Given the description of an element on the screen output the (x, y) to click on. 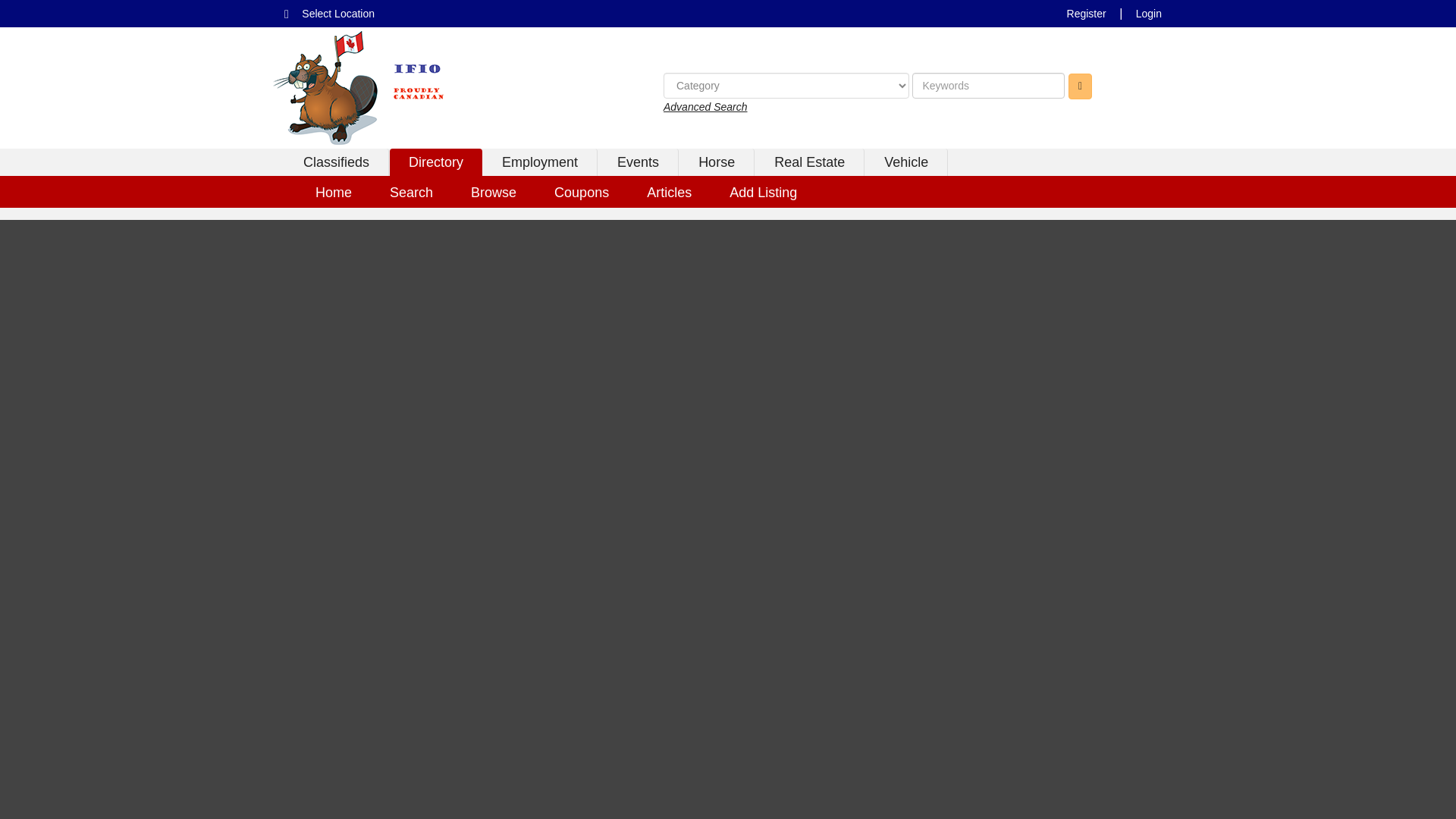
Coupons (581, 191)
Search (411, 191)
Vehicle (905, 162)
Home (334, 191)
Events (638, 162)
Add Listing (762, 191)
Browse (493, 191)
Horse (716, 162)
Real Estate (809, 162)
Select Location (338, 14)
